Given the description of an element on the screen output the (x, y) to click on. 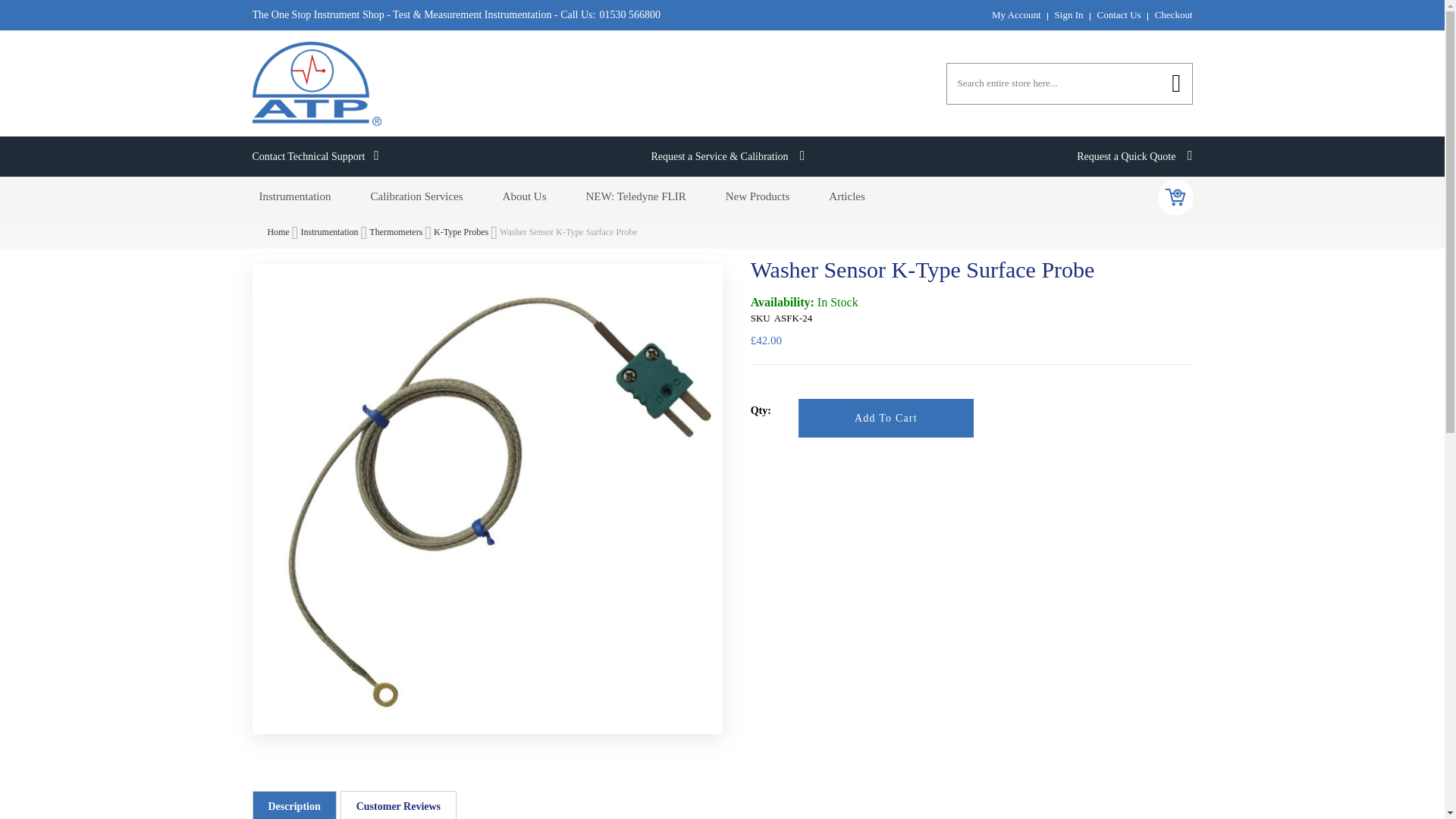
Request a Quick Quote (1134, 156)
Sign In (1069, 14)
01530 566800 (628, 14)
Contact Us (1119, 14)
Add to Cart (885, 417)
My Cart (1174, 197)
Availability (971, 303)
My Account (1016, 14)
Thermometers (397, 231)
ATP Instrumentation Ltd (315, 83)
